Given the description of an element on the screen output the (x, y) to click on. 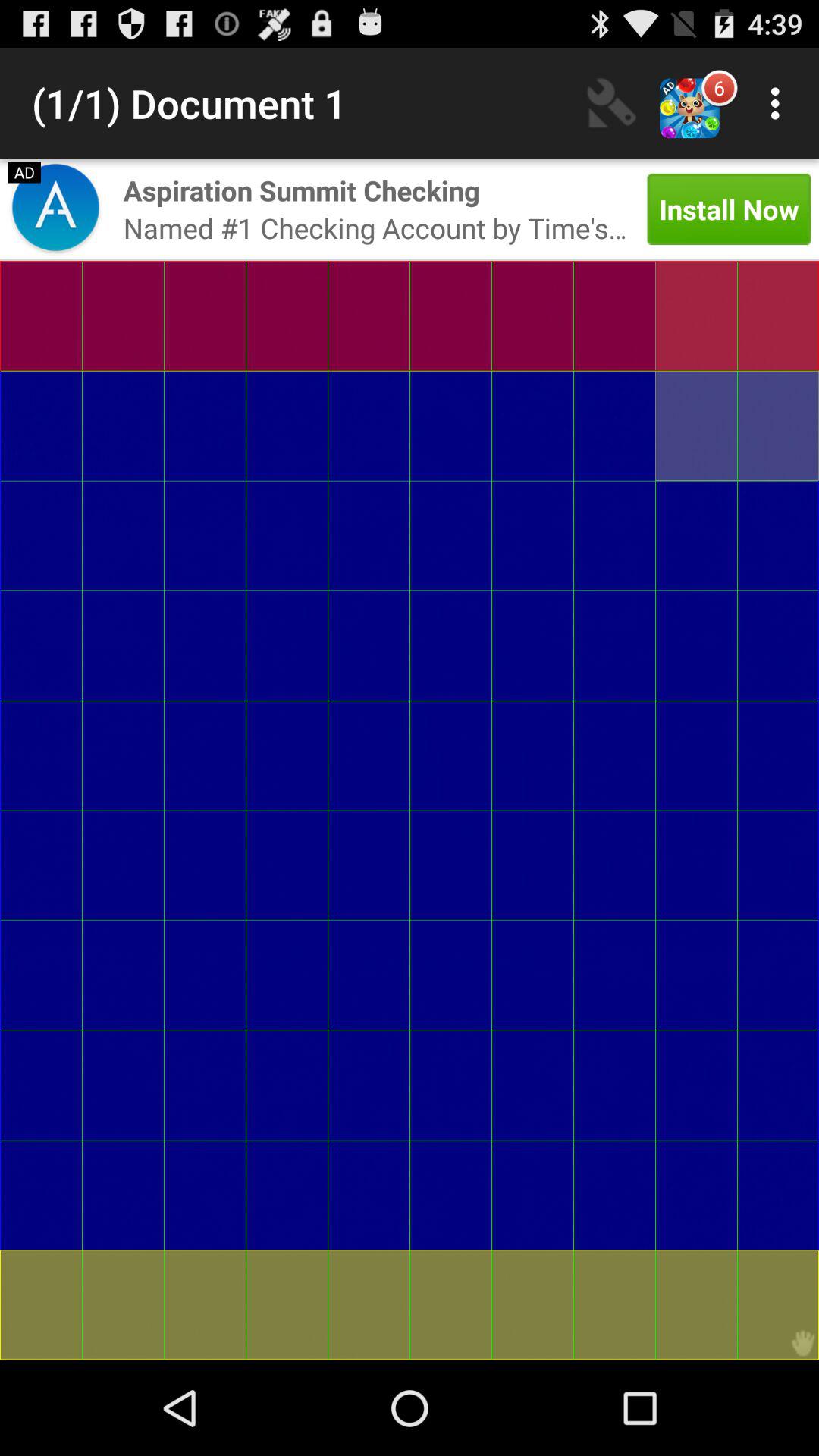
select the app to the right of named 1 checking item (729, 209)
